Given the description of an element on the screen output the (x, y) to click on. 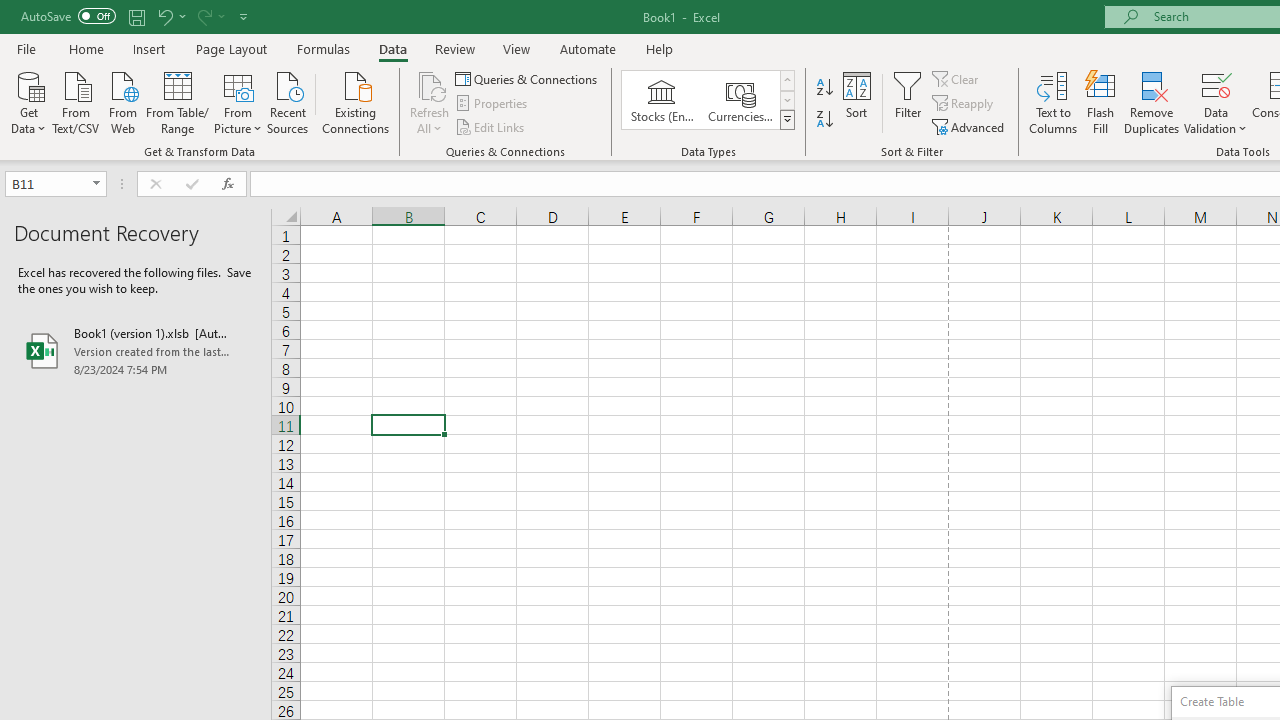
Recent Sources (287, 101)
Data Validation... (1215, 84)
From Table/Range (177, 101)
Stocks (English) (662, 100)
Edit Links (491, 126)
More Options (1215, 121)
Sort Z to A (824, 119)
From Picture (238, 101)
Row Down (786, 100)
Currencies (English) (740, 100)
Row up (786, 79)
Formulas (323, 48)
Reapply (964, 103)
Book1 (version 1).xlsb  [AutoRecovered] (136, 350)
